Given the description of an element on the screen output the (x, y) to click on. 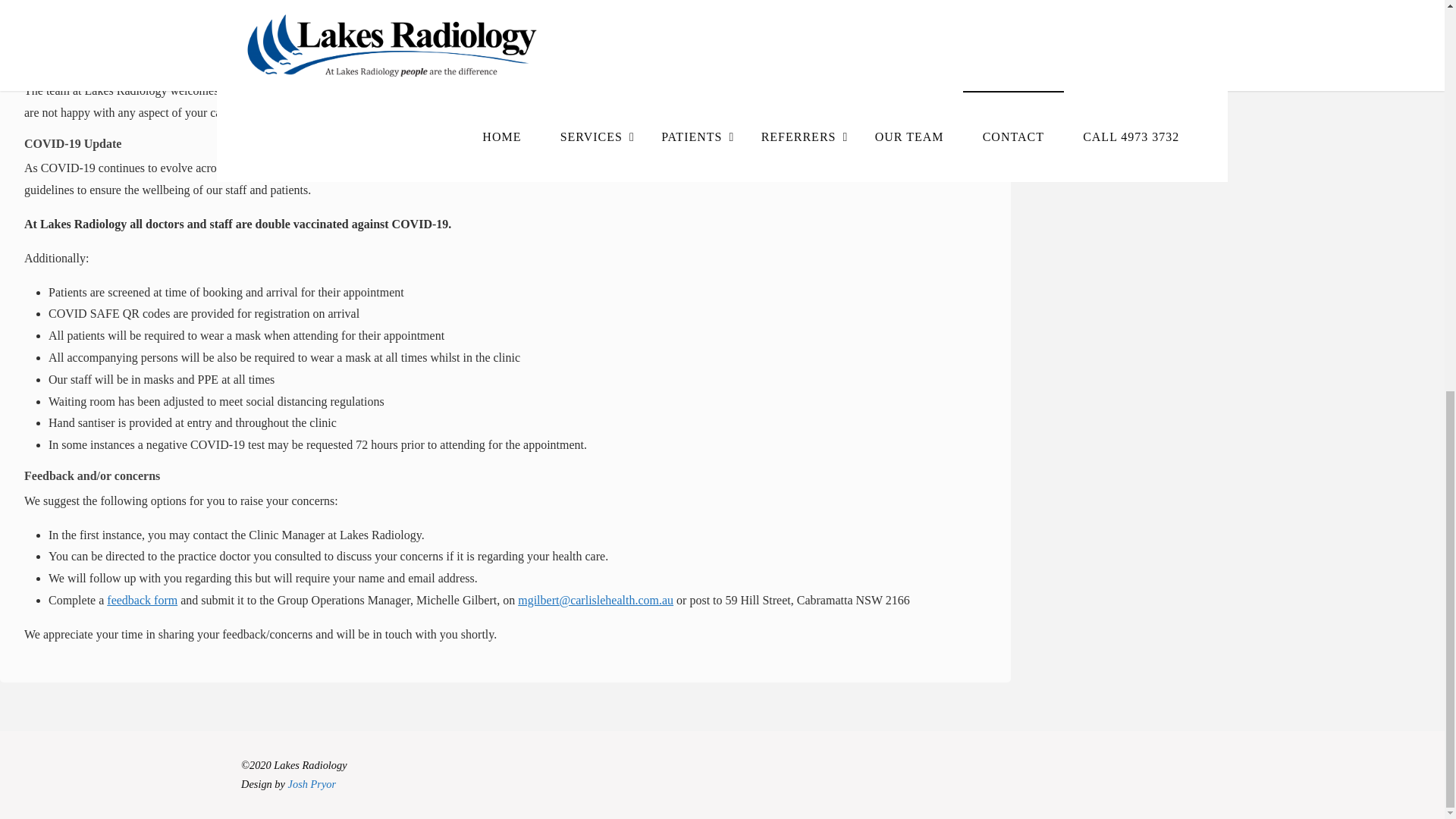
Josh Pryor Yogi Author (312, 784)
